Given the description of an element on the screen output the (x, y) to click on. 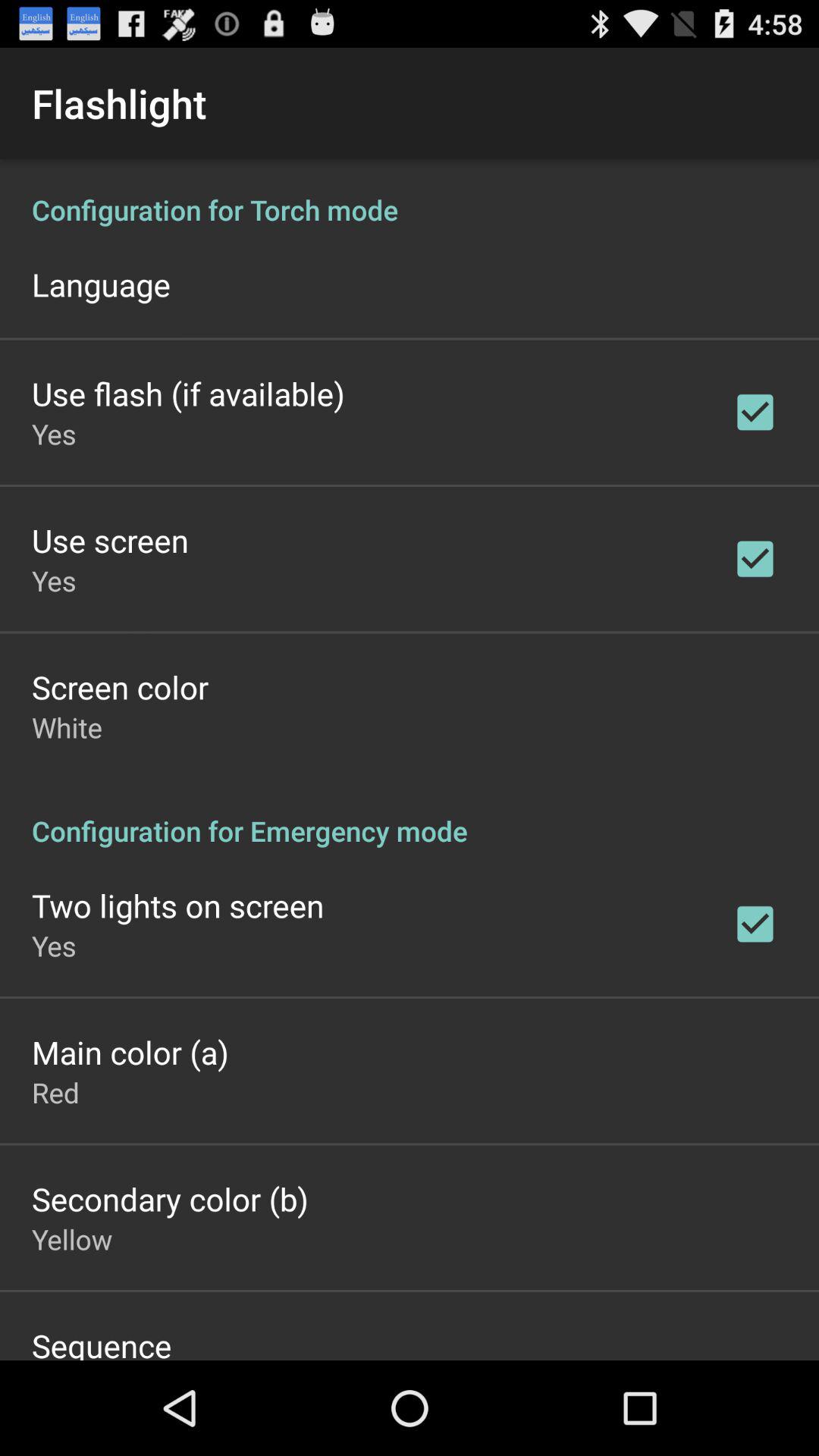
select icon above the white app (119, 686)
